Given the description of an element on the screen output the (x, y) to click on. 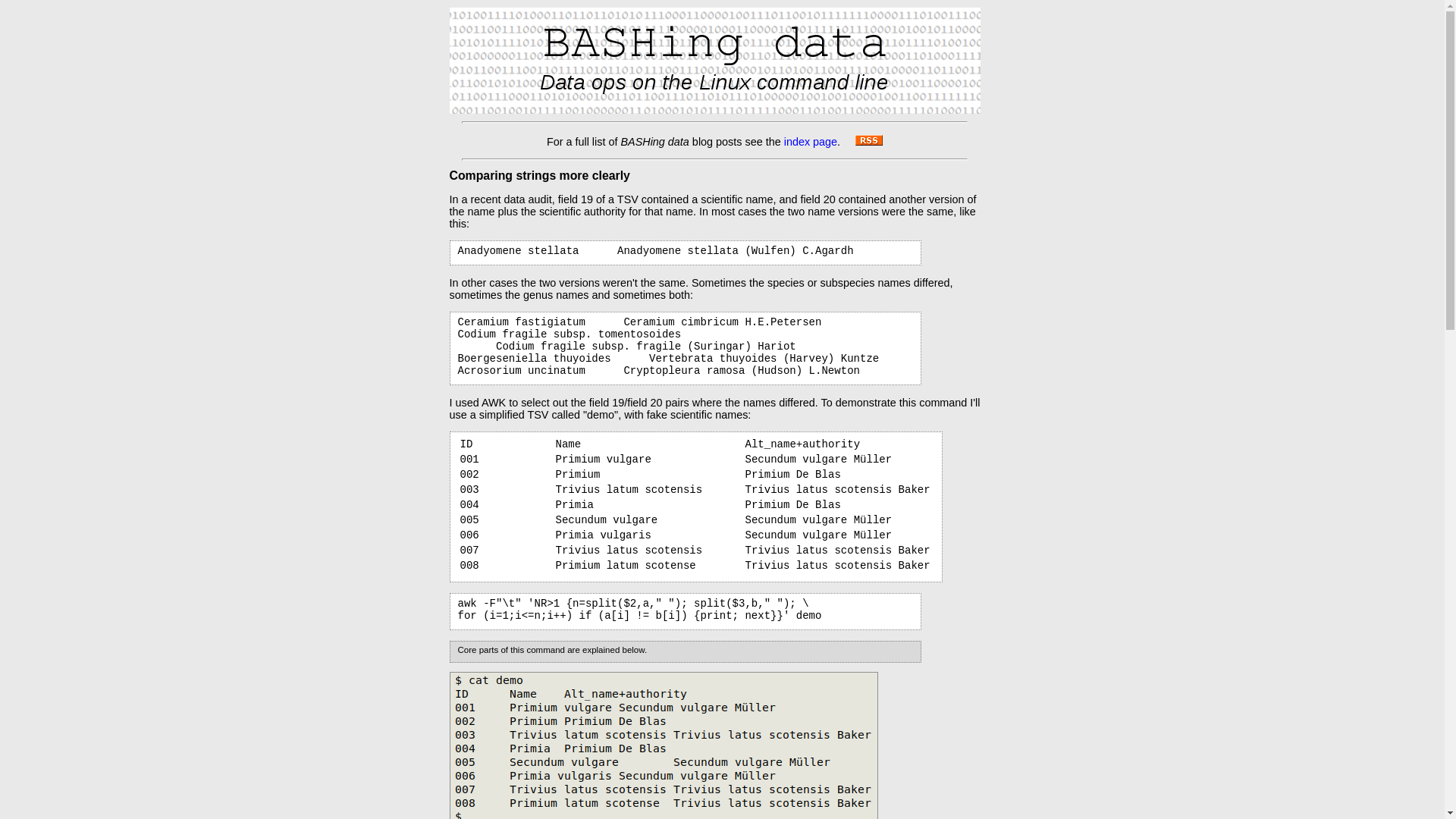
index page Element type: text (810, 141)
